Given the description of an element on the screen output the (x, y) to click on. 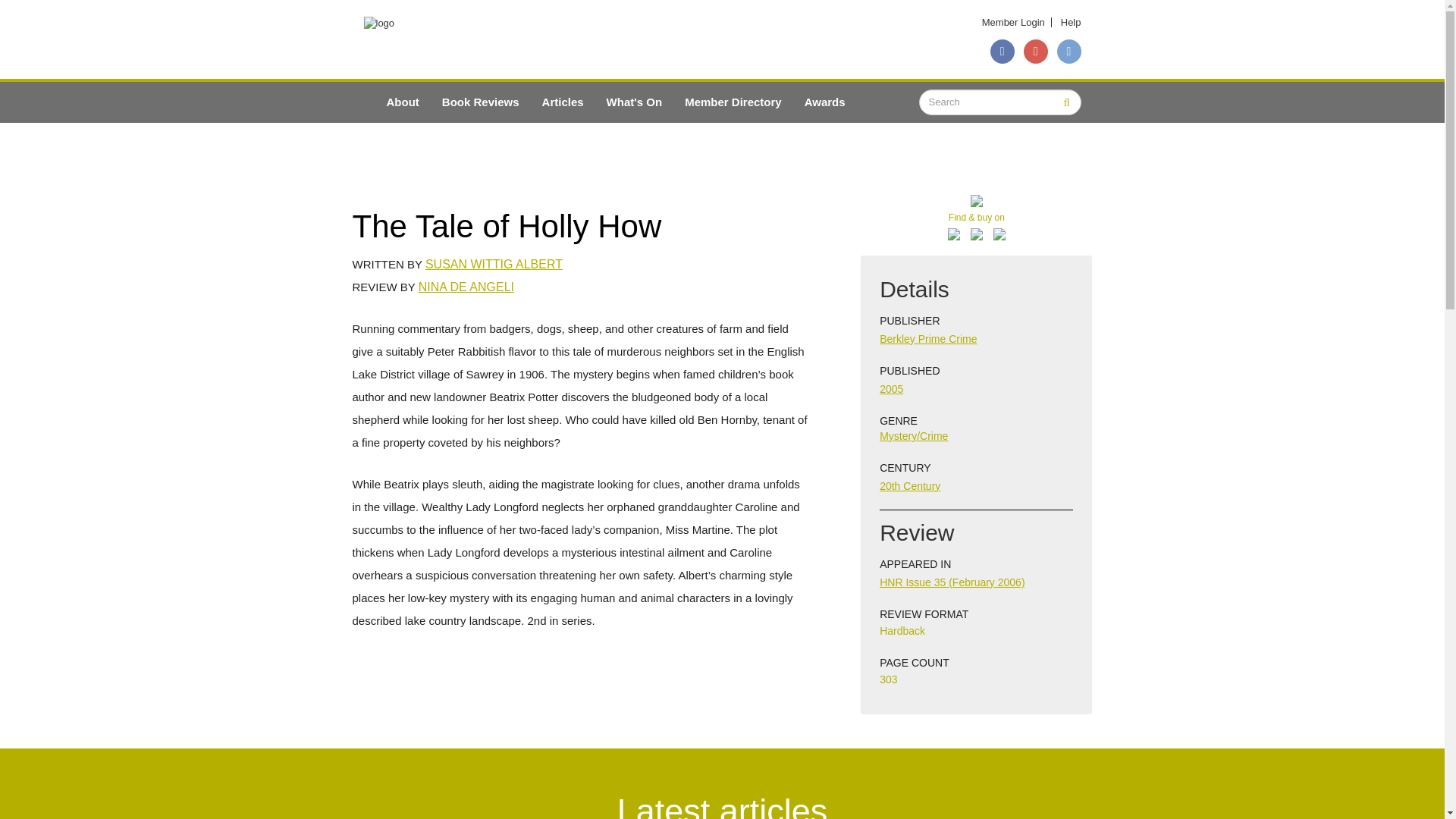
facebook (1002, 51)
What's On (634, 101)
Help (1071, 22)
youtube (1035, 51)
Book Reviews (480, 101)
Member Directory (732, 101)
Awards (825, 101)
Reviews (480, 101)
SUSAN WITTIG ALBERT (493, 264)
About (401, 101)
NINA DE ANGELI (466, 286)
What's On (634, 101)
About (401, 101)
Help (1071, 22)
Articles (563, 101)
